Given the description of an element on the screen output the (x, y) to click on. 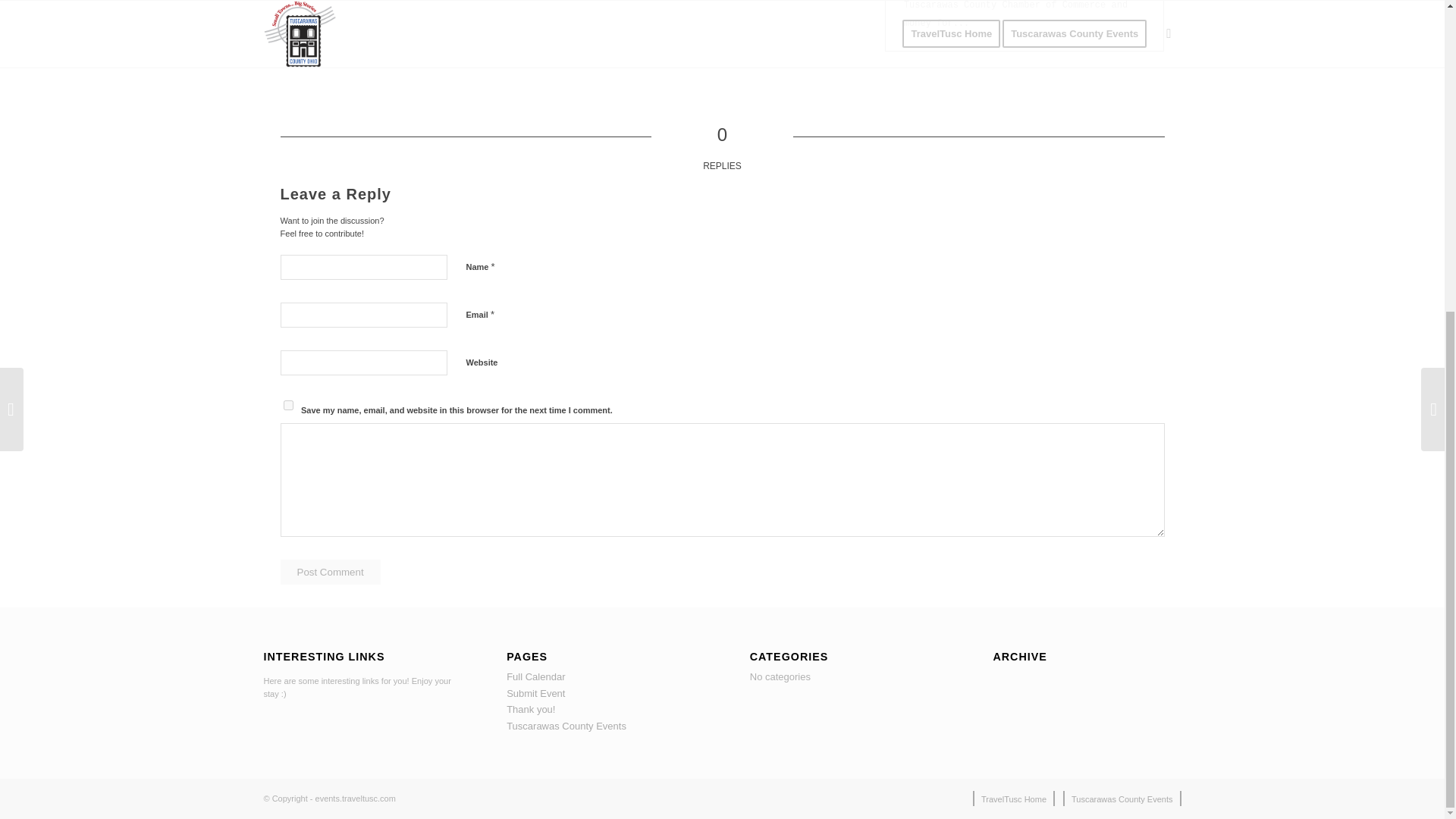
Full Calendar (535, 676)
Post Comment (330, 571)
yes (288, 405)
Post Comment (330, 571)
Submit Event (535, 693)
Thank you! (530, 708)
Tuscarawas County Events (566, 726)
TravelTusc Home (1013, 799)
Tuscarawas County Events (1121, 799)
